Given the description of an element on the screen output the (x, y) to click on. 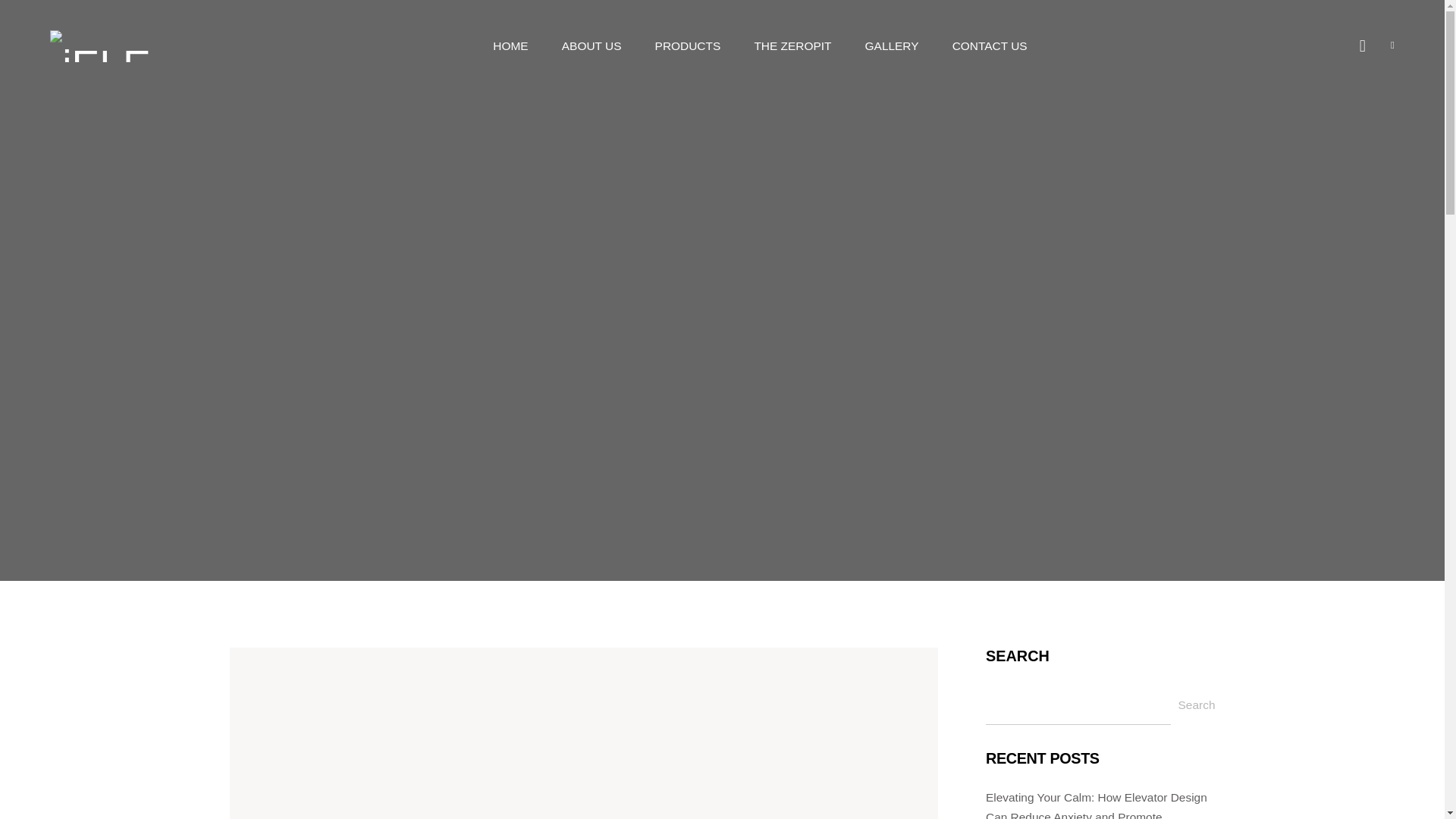
THE ZEROPIT (792, 45)
ABOUT US (591, 45)
HOME (510, 45)
GALLERY (891, 45)
CONTACT US (989, 45)
Search (1196, 704)
PRODUCTS (687, 45)
